Given the description of an element on the screen output the (x, y) to click on. 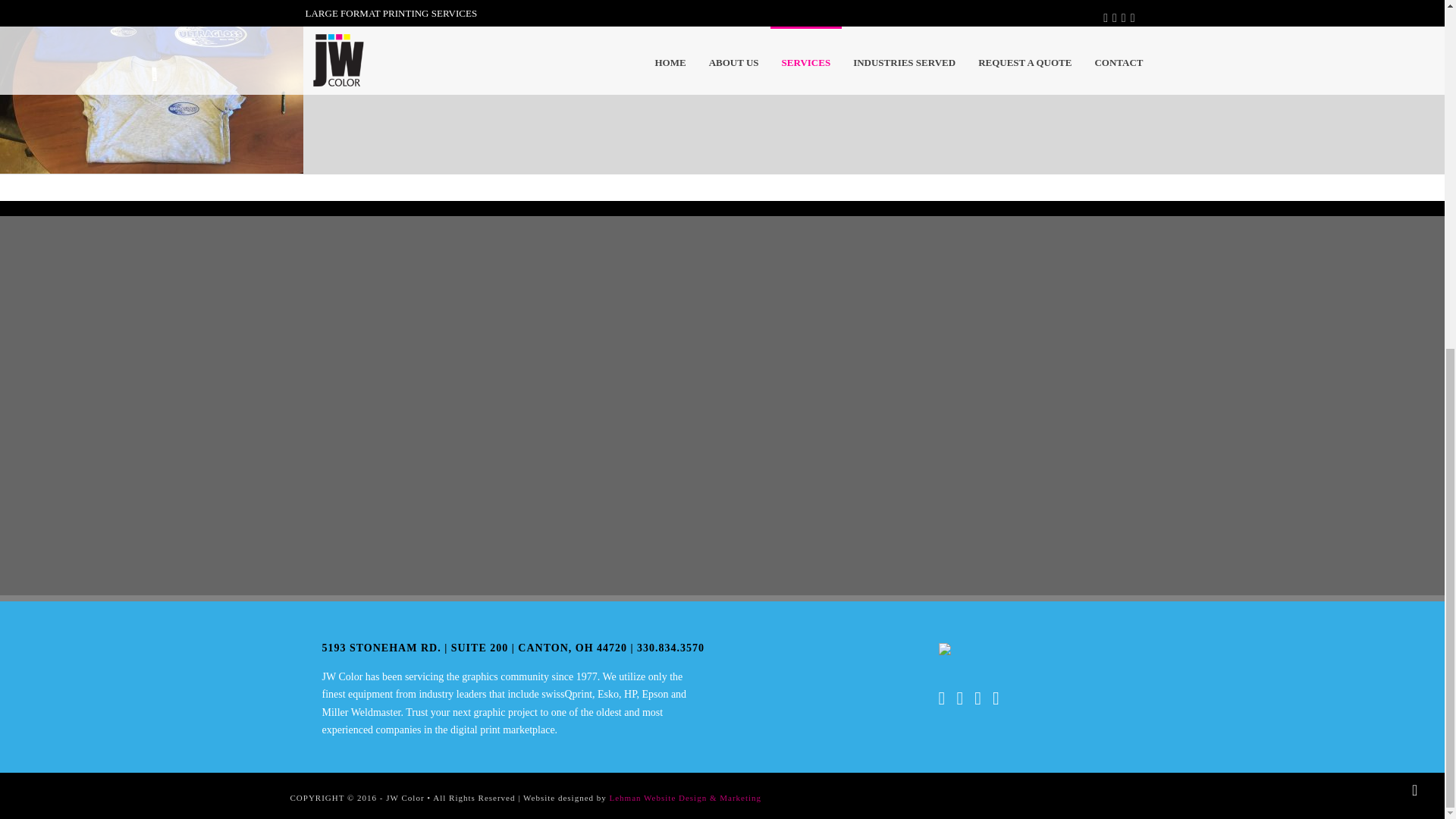
Apparel (455, 86)
shirts (1063, 86)
bags (759, 86)
